Given the description of an element on the screen output the (x, y) to click on. 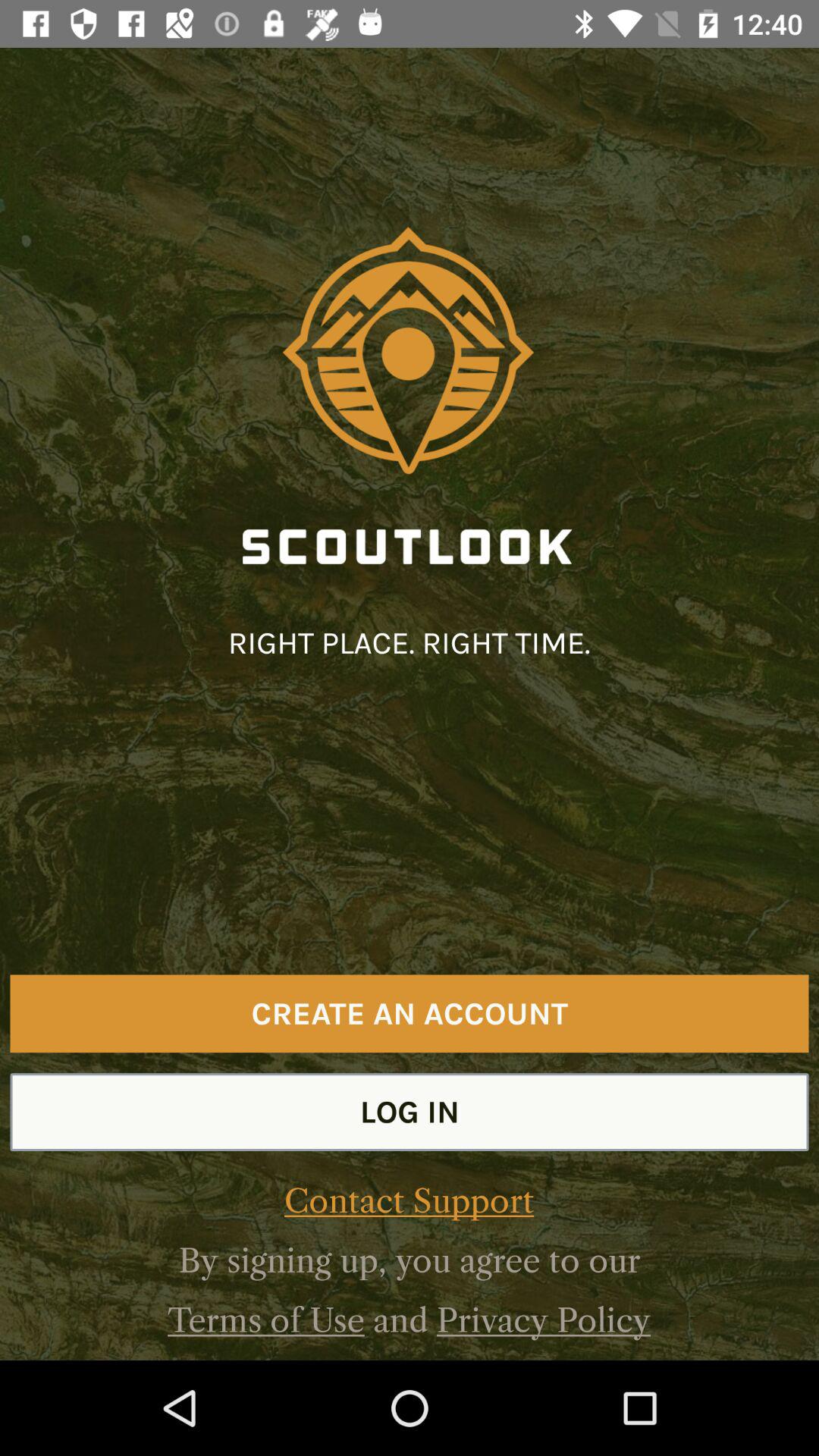
choose icon below by signing up (543, 1320)
